Given the description of an element on the screen output the (x, y) to click on. 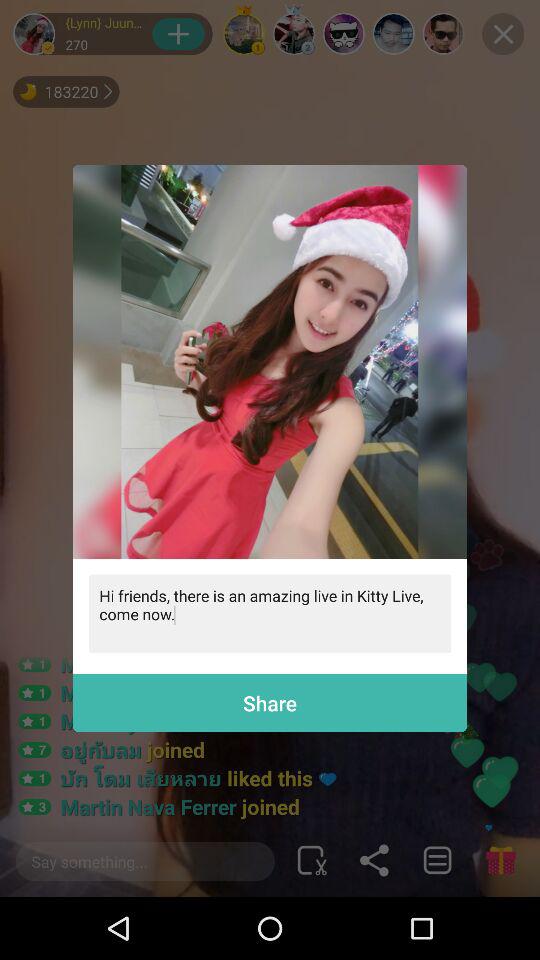
open hi friends there icon (269, 613)
